Given the description of an element on the screen output the (x, y) to click on. 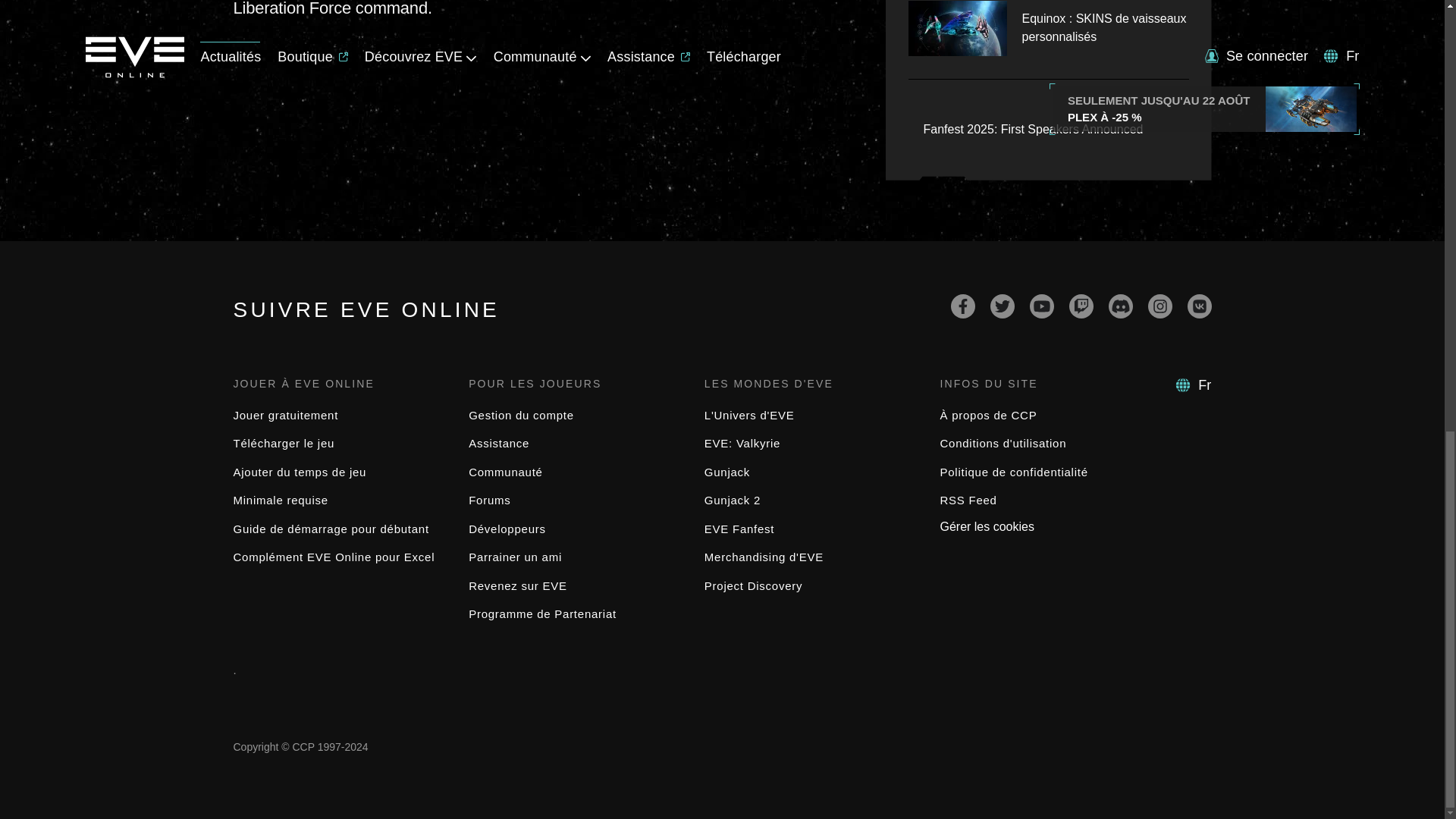
VK (1199, 306)
Discord (1120, 306)
Twitch (1080, 306)
Facebook (962, 306)
Twitter (1002, 306)
Instagram (1160, 306)
YouTube (1041, 306)
